Given the description of an element on the screen output the (x, y) to click on. 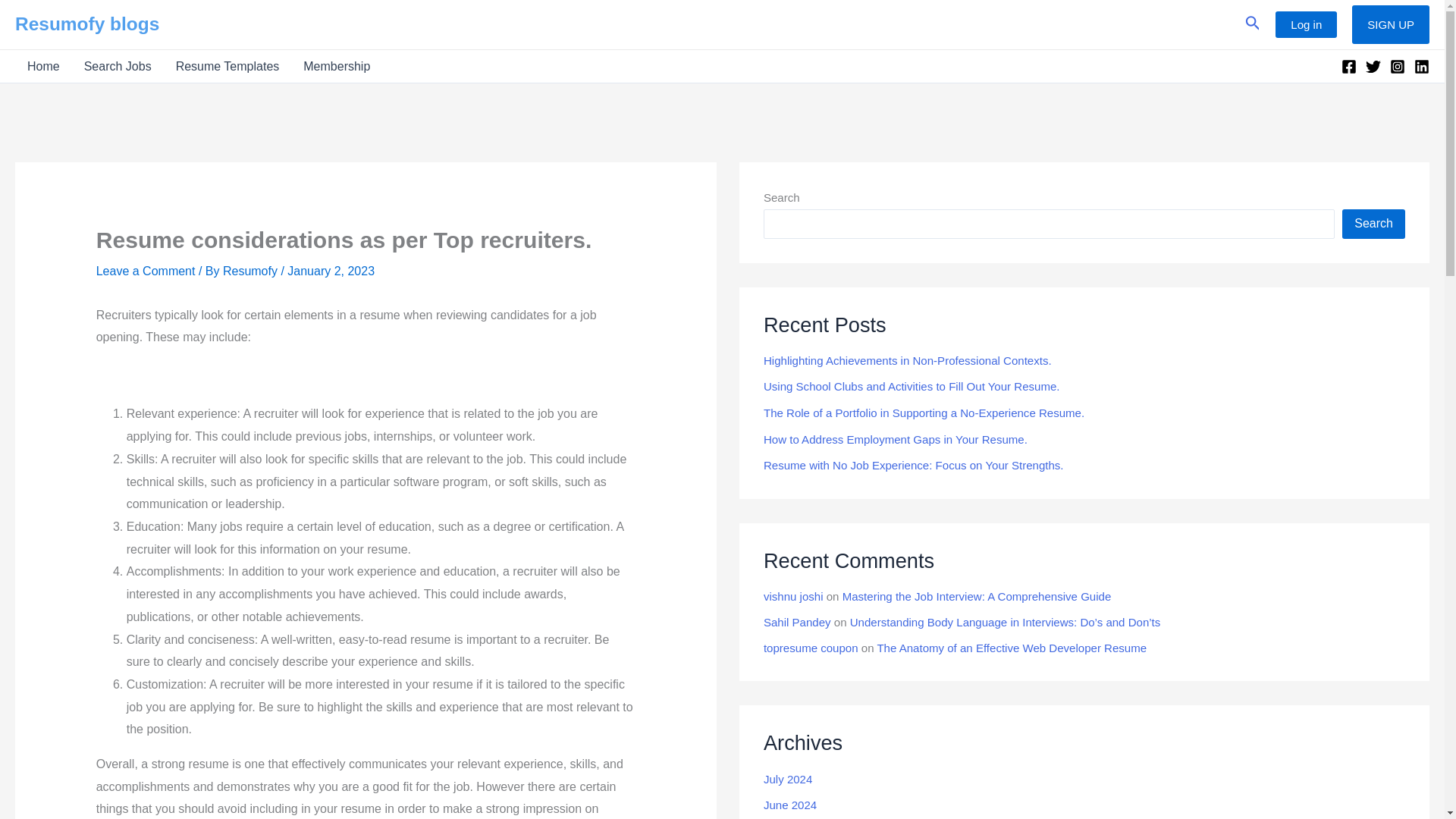
View all posts by Resumofy (251, 270)
Search Jobs (117, 65)
SIGN UP (1390, 24)
Resumofy Home (42, 65)
Resume Templates (227, 65)
Resume Templates (227, 65)
Membership (336, 65)
Leave a Comment (145, 270)
Log in (1305, 24)
Home (42, 65)
Membership (336, 65)
Search Jobs (117, 65)
Resumofy (251, 270)
Resumofy blogs (86, 23)
